Given the description of an element on the screen output the (x, y) to click on. 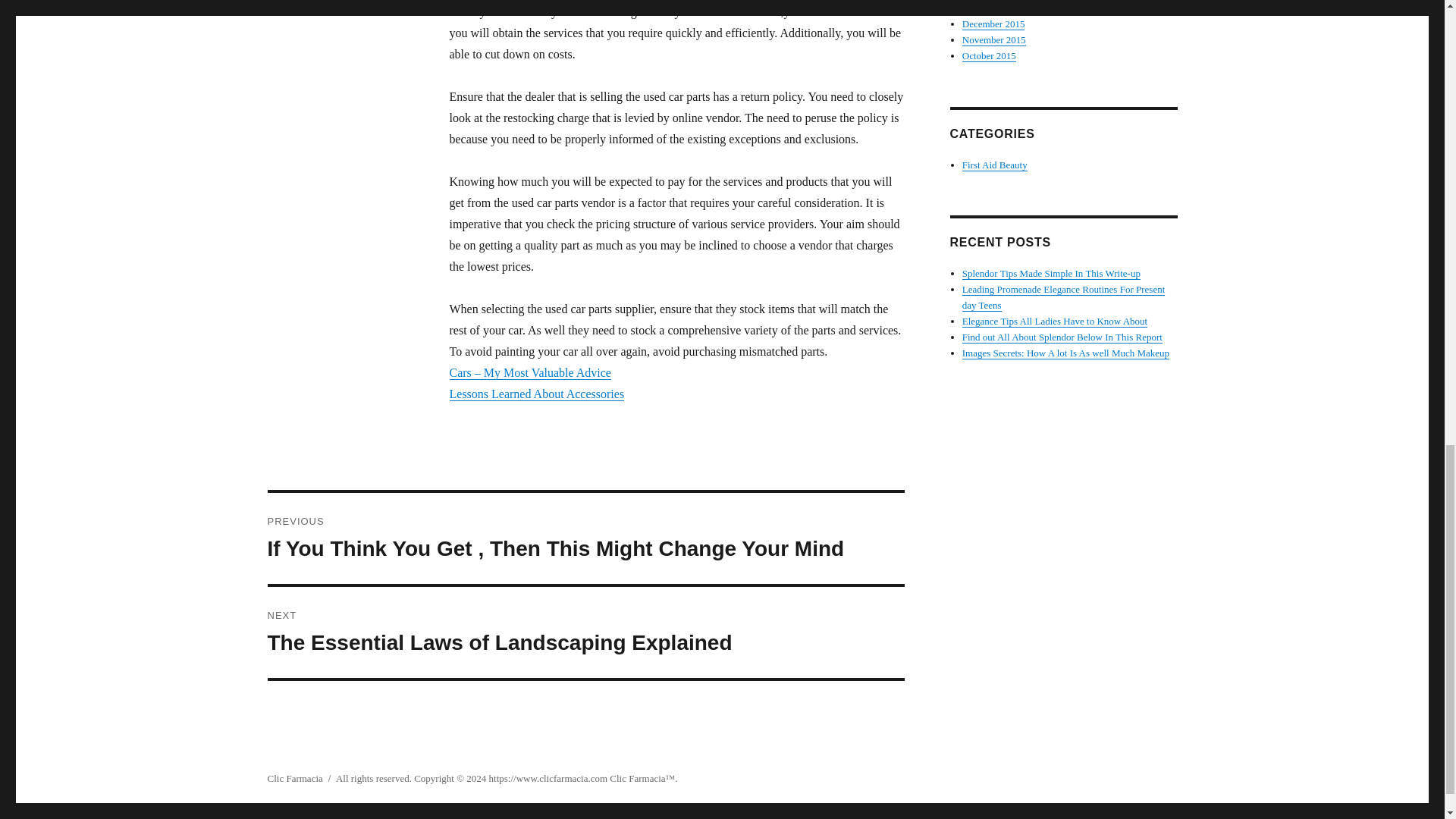
Leading Promenade Elegance Routines For Present day Teens (585, 632)
December 2015 (1064, 297)
January 2016 (993, 23)
Clic Farmacia (988, 7)
Images Secrets: How A lot Is As well Much Makeup (637, 778)
Find out All About Splendor Below In This Report (1065, 352)
October 2015 (1061, 337)
Elegance Tips All Ladies Have to Know About (989, 55)
Clic Farmacia (1054, 320)
November 2015 (293, 778)
Lessons Learned About Accessories (994, 39)
First Aid Beauty (536, 393)
Splendor Tips Made Simple In This Write-up (994, 164)
